Given the description of an element on the screen output the (x, y) to click on. 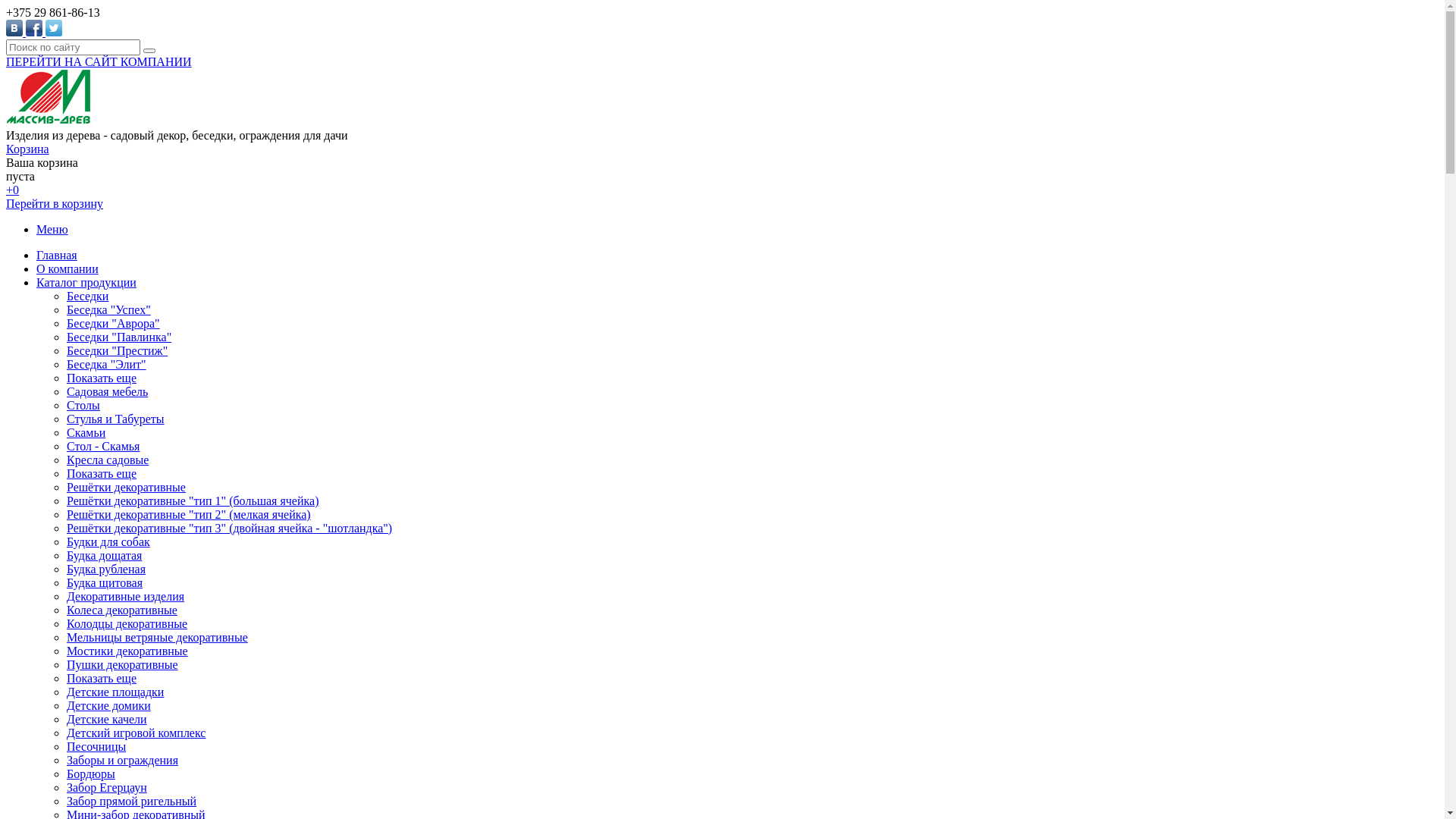
Facebook Element type: hover (33, 27)
+0 Element type: text (12, 189)
Twitter Element type: hover (53, 27)
